Given the description of an element on the screen output the (x, y) to click on. 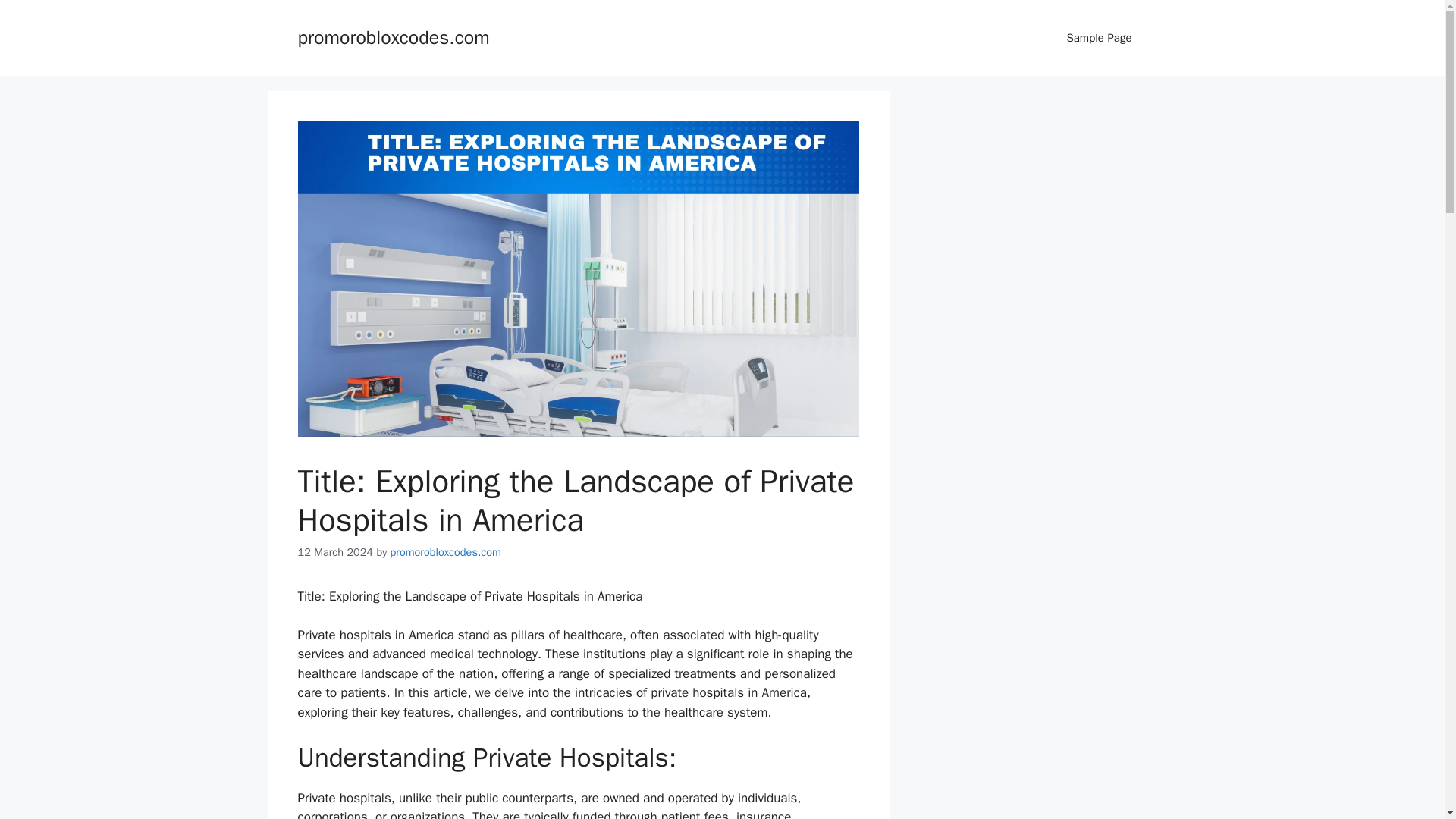
View all posts by promorobloxcodes.com (445, 551)
promorobloxcodes.com (393, 37)
Sample Page (1099, 37)
promorobloxcodes.com (445, 551)
